Given the description of an element on the screen output the (x, y) to click on. 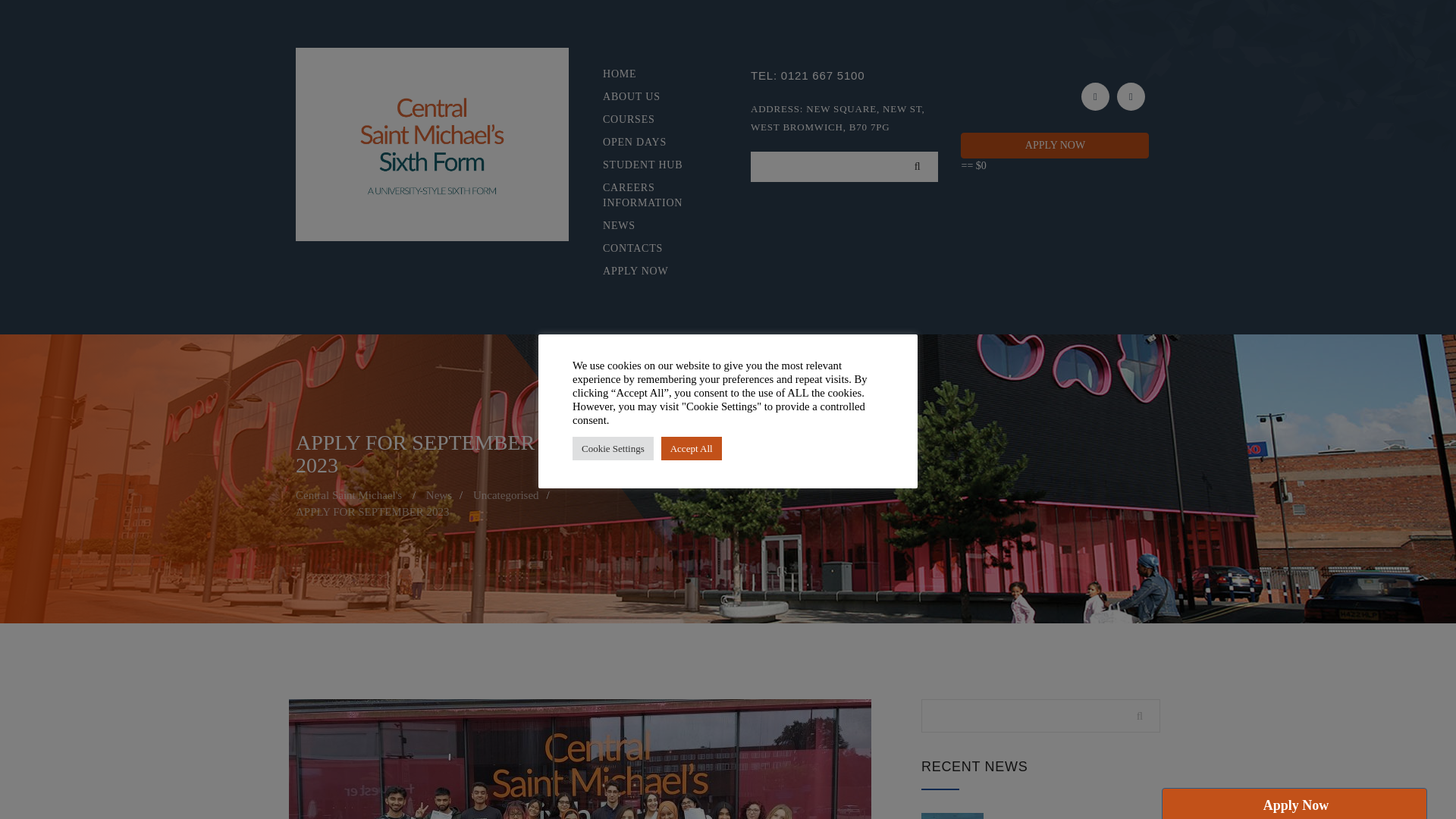
Open Days (653, 142)
ABOUT US (653, 96)
Courses (653, 119)
NEWS (653, 225)
HOME (653, 73)
COURSES (653, 119)
CAREERS INFORMATION (653, 195)
OPEN DAYS (653, 142)
TEL: 0121 667 5100 (845, 75)
CONTACTS (653, 248)
About Us (653, 96)
APPLY NOW (653, 271)
STUDENT HUB (653, 165)
Home (653, 73)
